Given the description of an element on the screen output the (x, y) to click on. 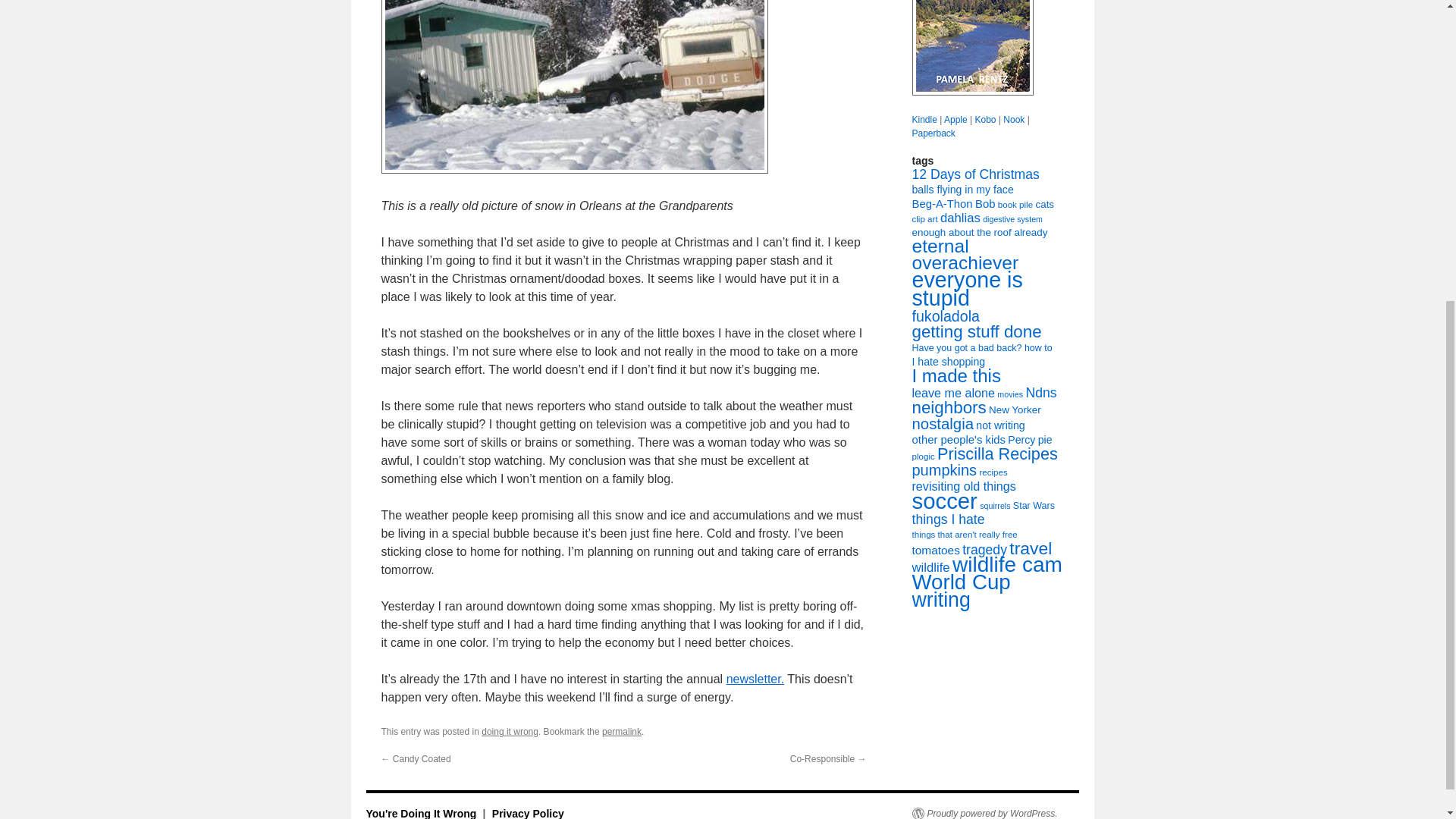
Buy Red Tape by Pamela Rentz (971, 47)
Apple (955, 119)
enough about the roof already (978, 232)
clip art (924, 218)
Kobo (984, 119)
Paperback (933, 132)
cats (1044, 204)
doing it wrong (509, 731)
Bob (984, 203)
Nook (1014, 119)
12 Days of Christmas (975, 174)
Beg-A-Thon (941, 203)
dahlias (959, 217)
fukoladola (944, 315)
permalink (622, 731)
